Given the description of an element on the screen output the (x, y) to click on. 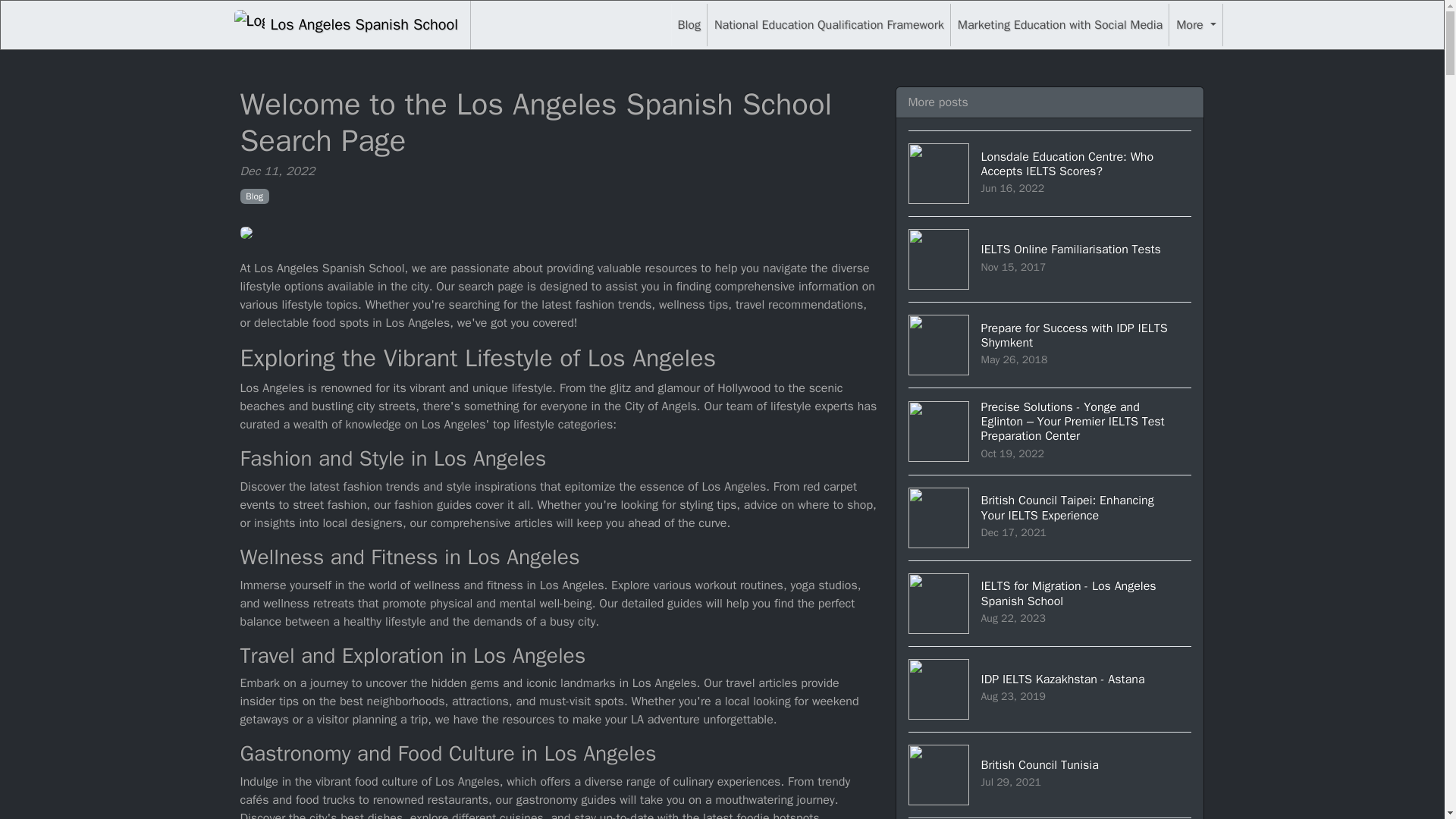
Blog (253, 196)
National Education Qualification Framework (828, 24)
Marketing Education with Social Media (1050, 774)
Los Angeles Spanish School (1059, 24)
More (345, 24)
